Given the description of an element on the screen output the (x, y) to click on. 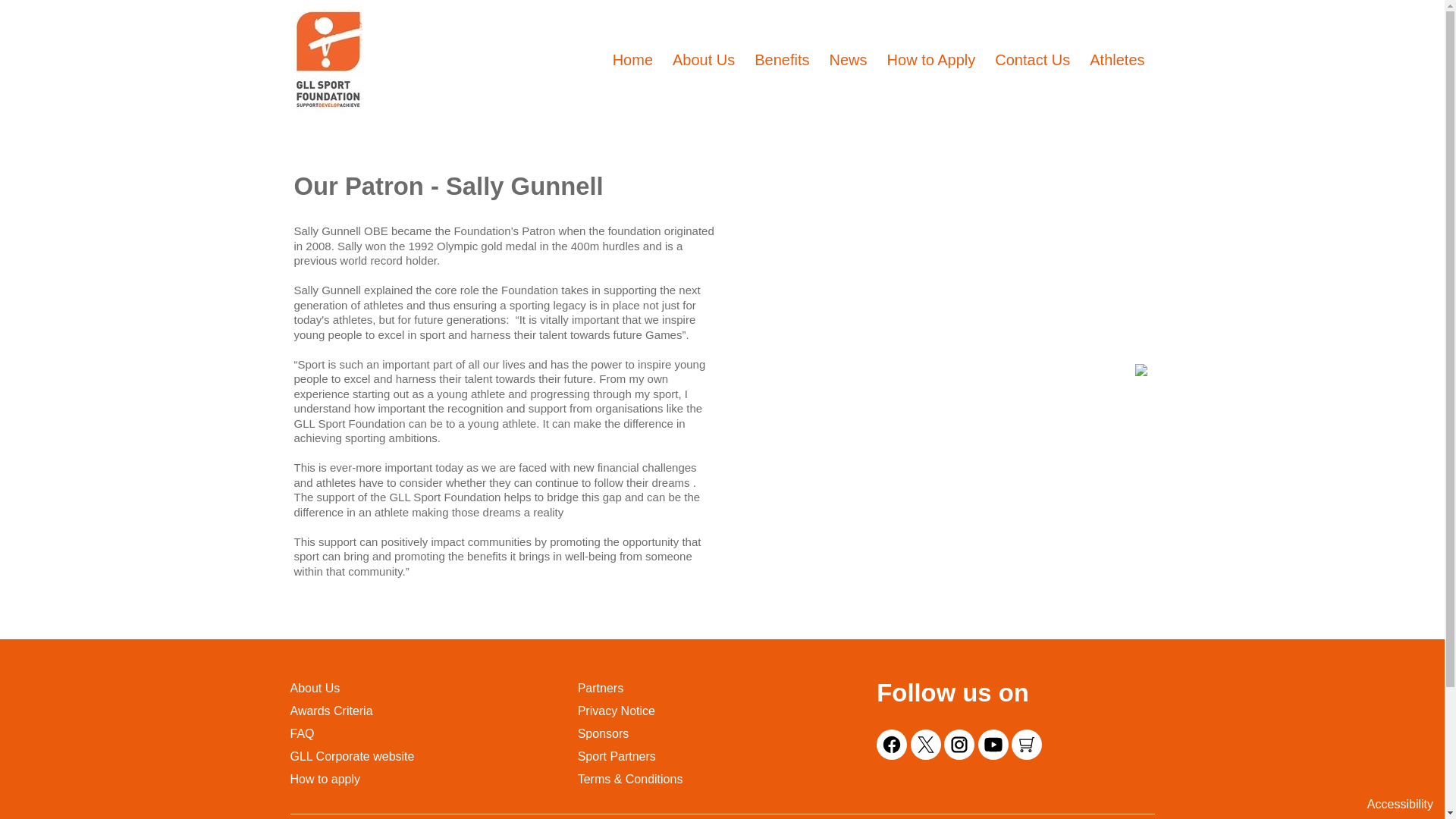
Athletes (1116, 60)
Home (632, 60)
Benefits (781, 60)
About Us (703, 60)
Contact Us (1032, 60)
News (848, 60)
How to Apply (930, 60)
